Given the description of an element on the screen output the (x, y) to click on. 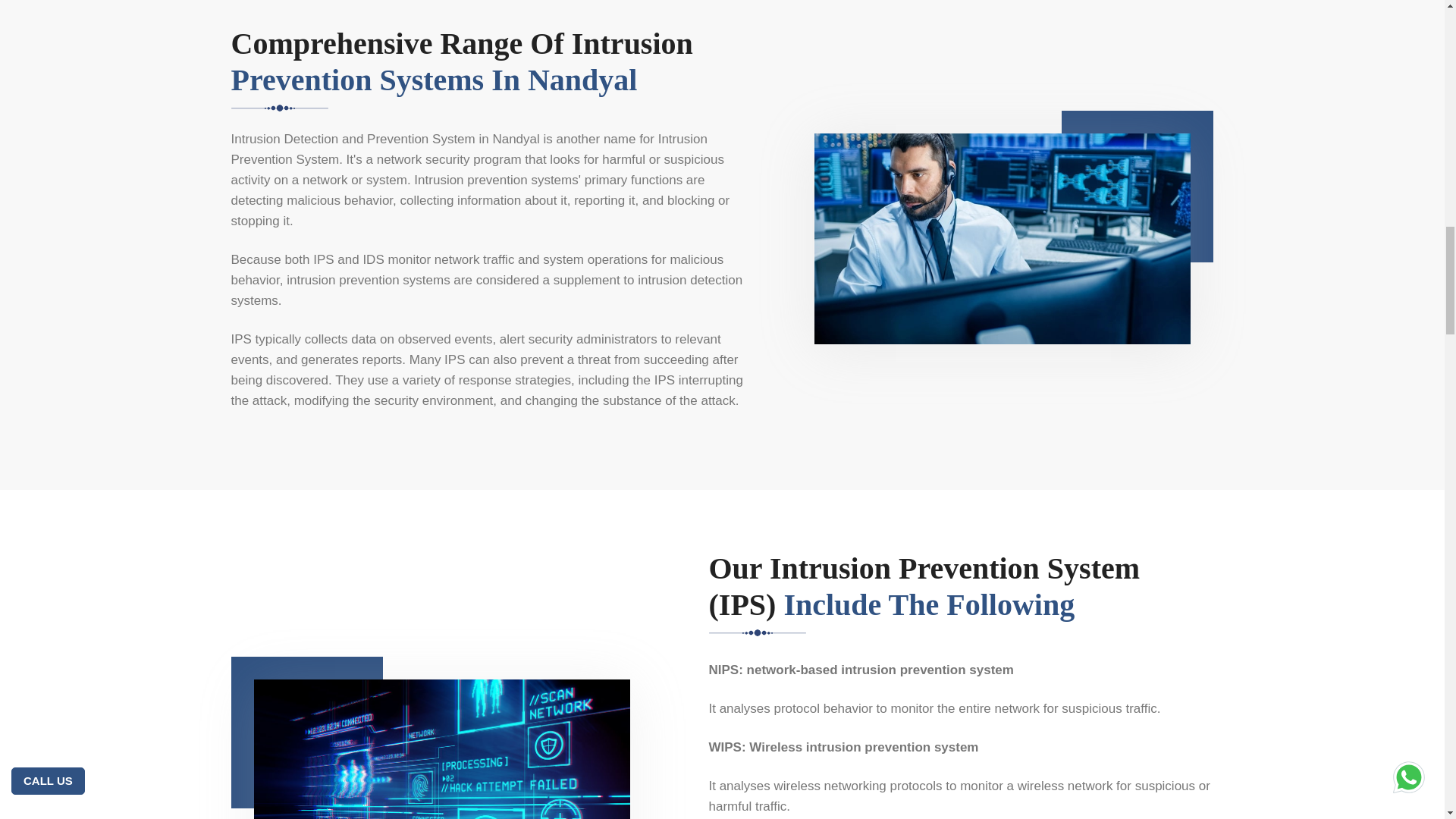
intrusion detection systems (486, 289)
